Given the description of an element on the screen output the (x, y) to click on. 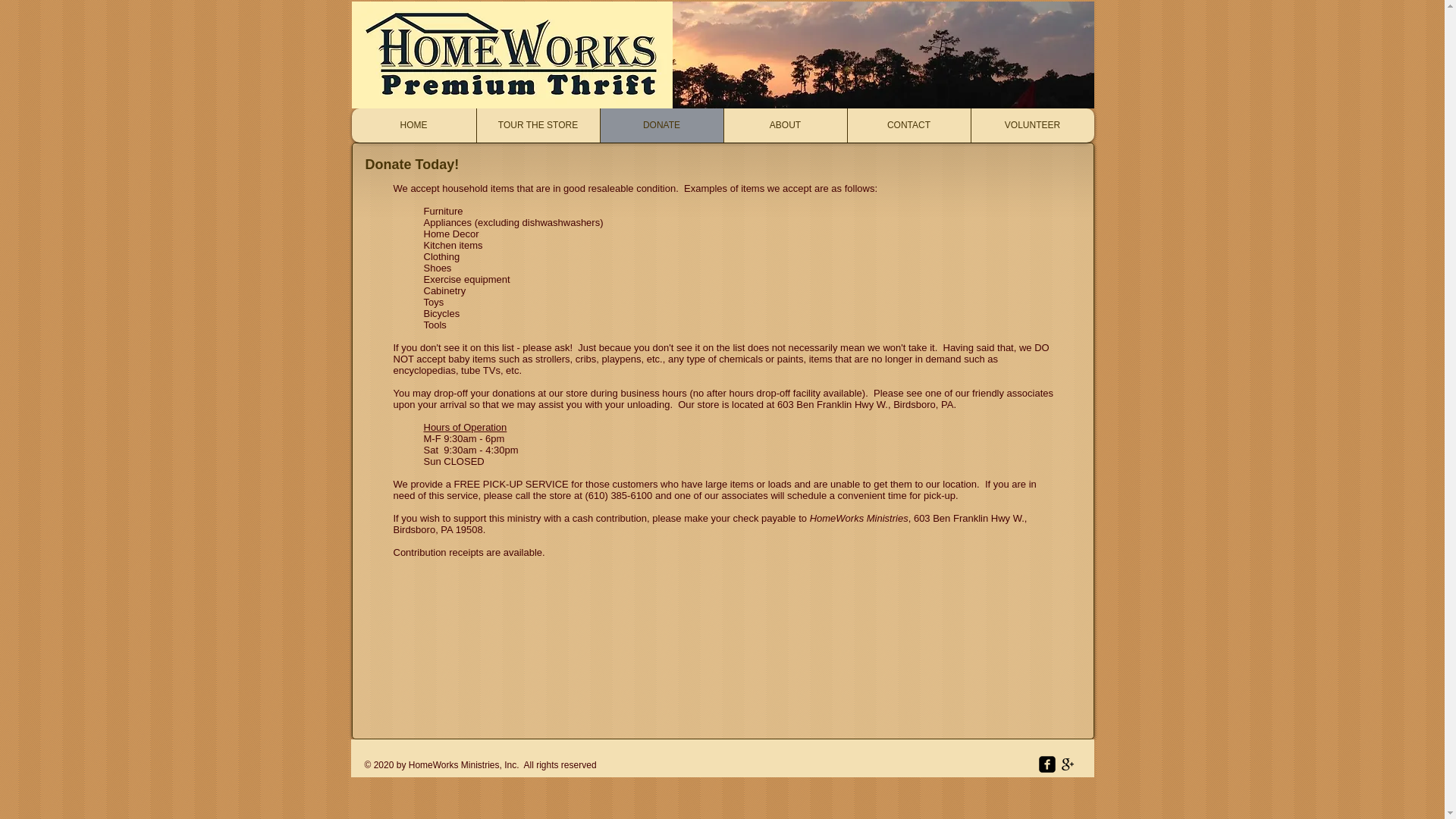
HOME (414, 125)
VOLUNTEER (1032, 125)
ABOUT (785, 125)
DONATE (660, 125)
TOUR THE STORE (537, 125)
HomeWorks Premium Thrift (512, 54)
CONTACT (907, 125)
